Given the description of an element on the screen output the (x, y) to click on. 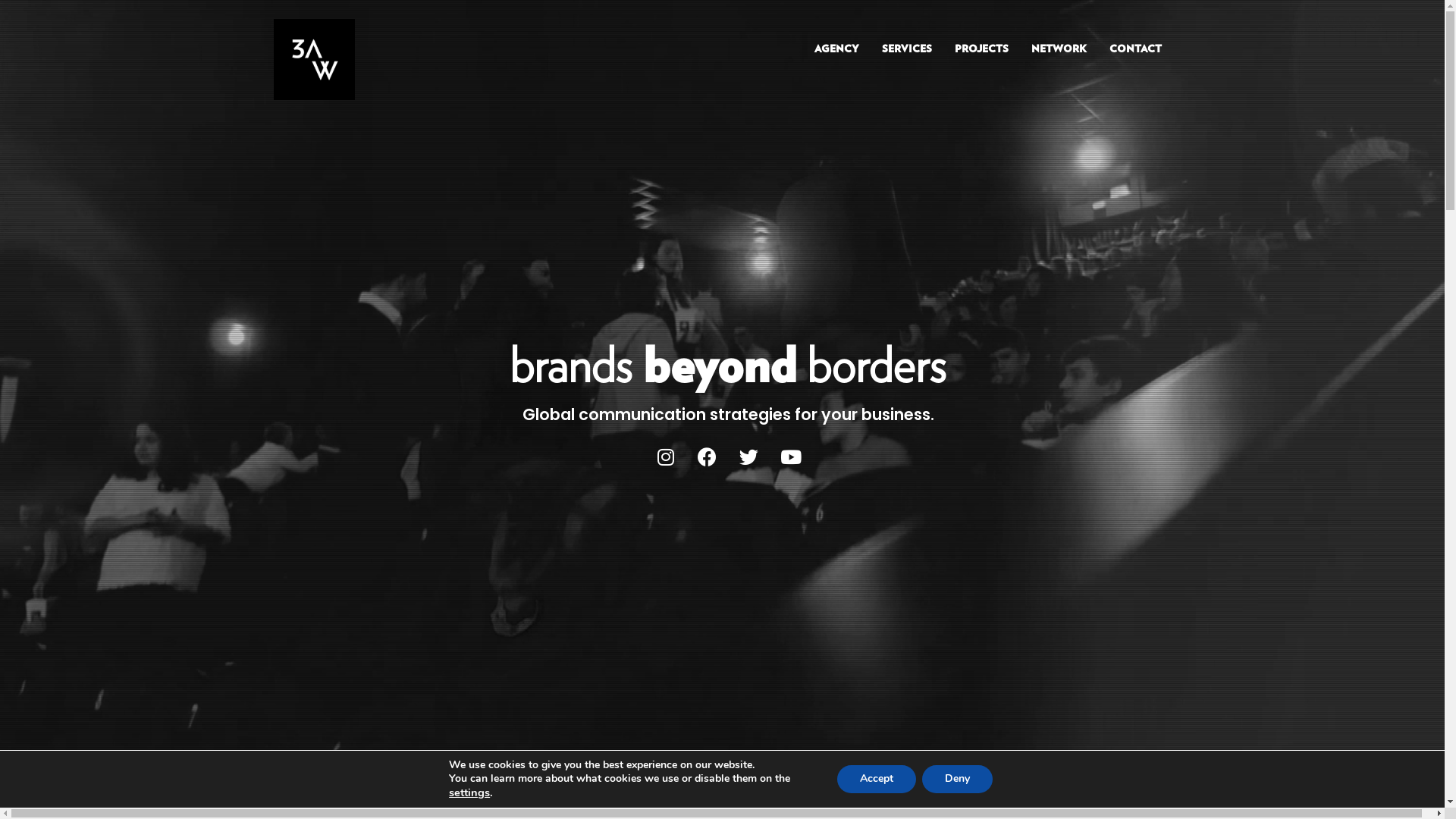
PROJECTS Element type: text (981, 49)
Deny Element type: text (957, 778)
CONTACT Element type: text (1135, 49)
Accept Element type: text (876, 778)
SERVICES Element type: text (906, 49)
AGENCY Element type: text (835, 49)
NETWORK Element type: text (1057, 49)
